Given the description of an element on the screen output the (x, y) to click on. 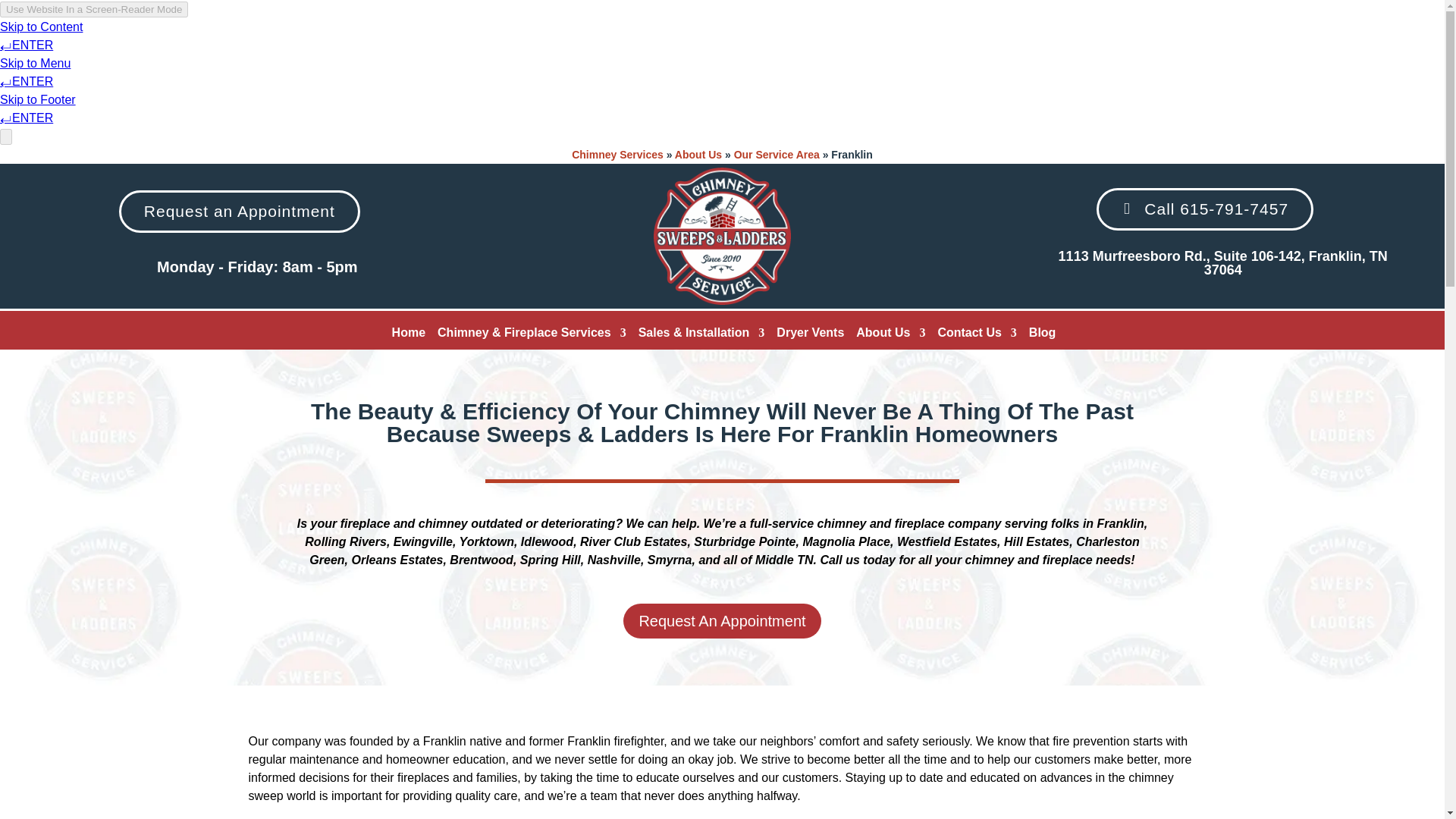
Call 615-791-7457 (1204, 209)
Chimney Services (617, 154)
Dryer Vents (810, 335)
Home (408, 335)
About Us (698, 154)
About Us (890, 335)
1113 Murfreesboro Rd., Suite 106-142, Franklin, TN 37064 (1222, 262)
Request an Appointment (239, 211)
Our Service Area (776, 154)
